Given the description of an element on the screen output the (x, y) to click on. 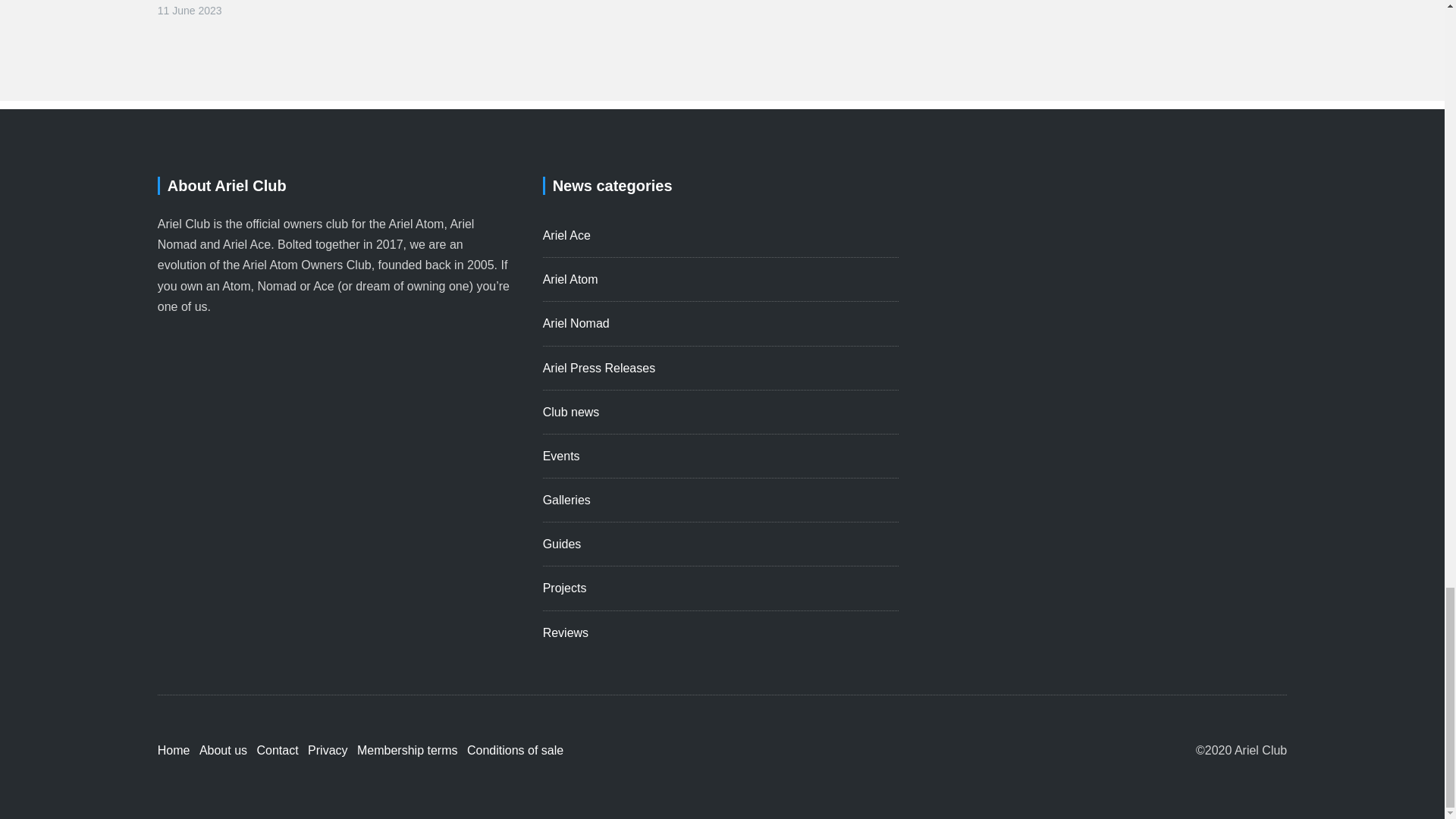
Castle - Stormed! (221, 1)
